Given the description of an element on the screen output the (x, y) to click on. 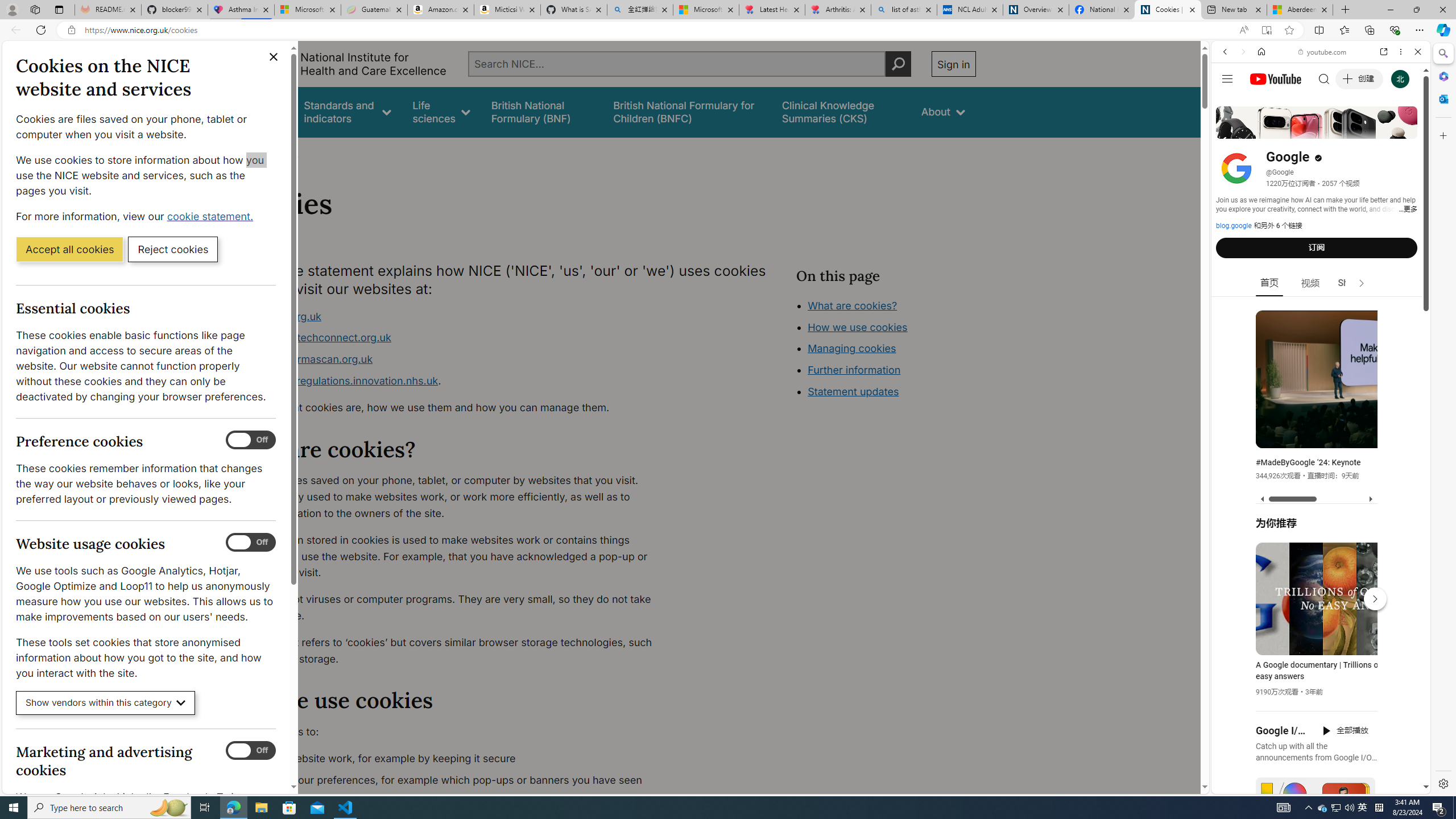
Perform search (898, 63)
Arthritis: Ask Health Professionals (838, 9)
British National Formulary for Children (BNFC) (686, 111)
Music (1320, 309)
Accept all cookies (69, 248)
